Given the description of an element on the screen output the (x, y) to click on. 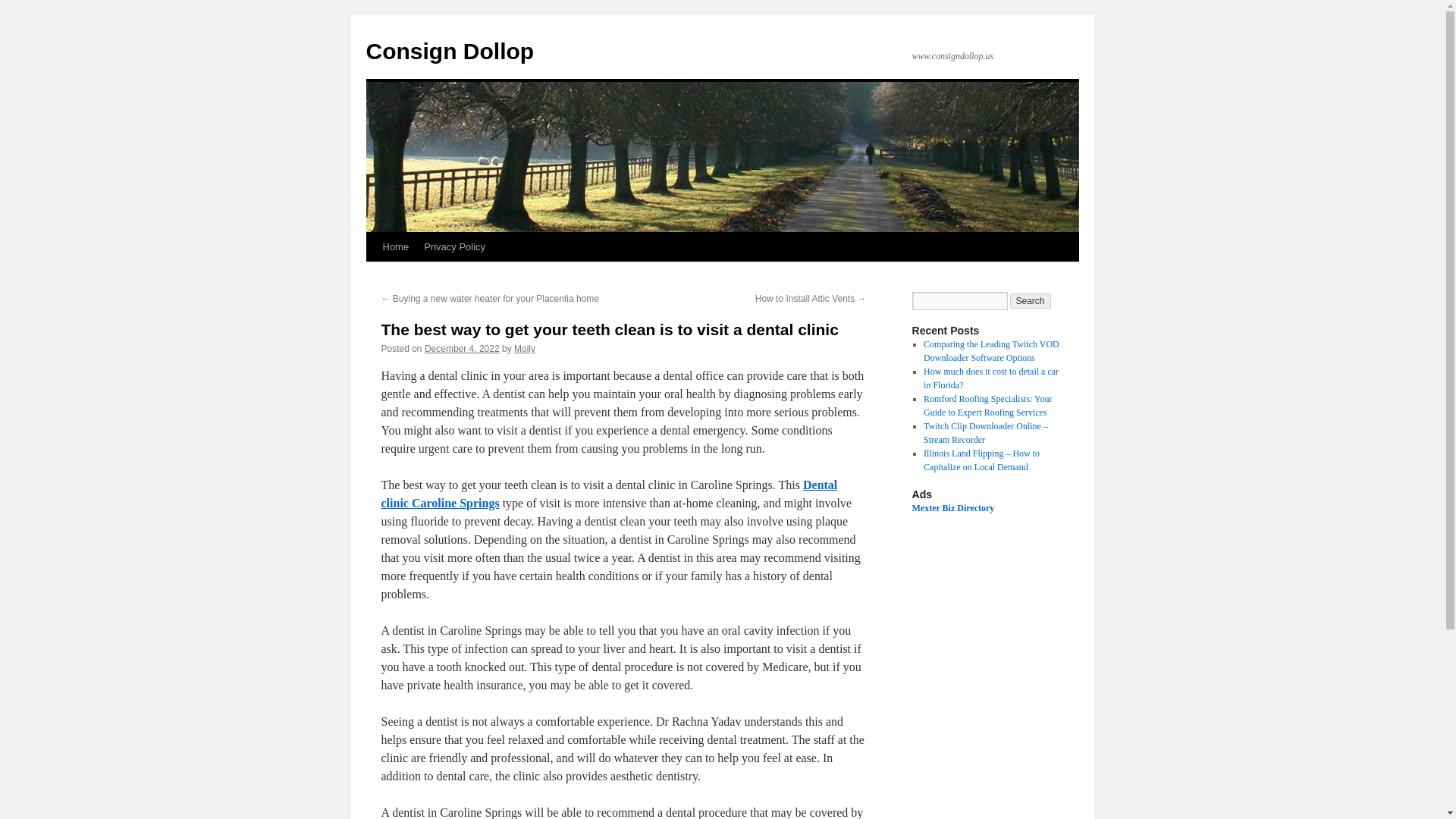
6:56 am (462, 348)
Privacy Policy (454, 246)
Molly (524, 348)
Mexter Biz Directory (952, 507)
Consign Dollop (449, 50)
Skip to content (372, 274)
Home (395, 246)
View all posts by Molly (524, 348)
Consign Dollop (449, 50)
Dental clinic Caroline Springs (608, 493)
December 4, 2022 (462, 348)
Skip to content (372, 274)
Search (1030, 300)
Comparing the Leading Twitch VOD Downloader Software Options (991, 351)
